Given the description of an element on the screen output the (x, y) to click on. 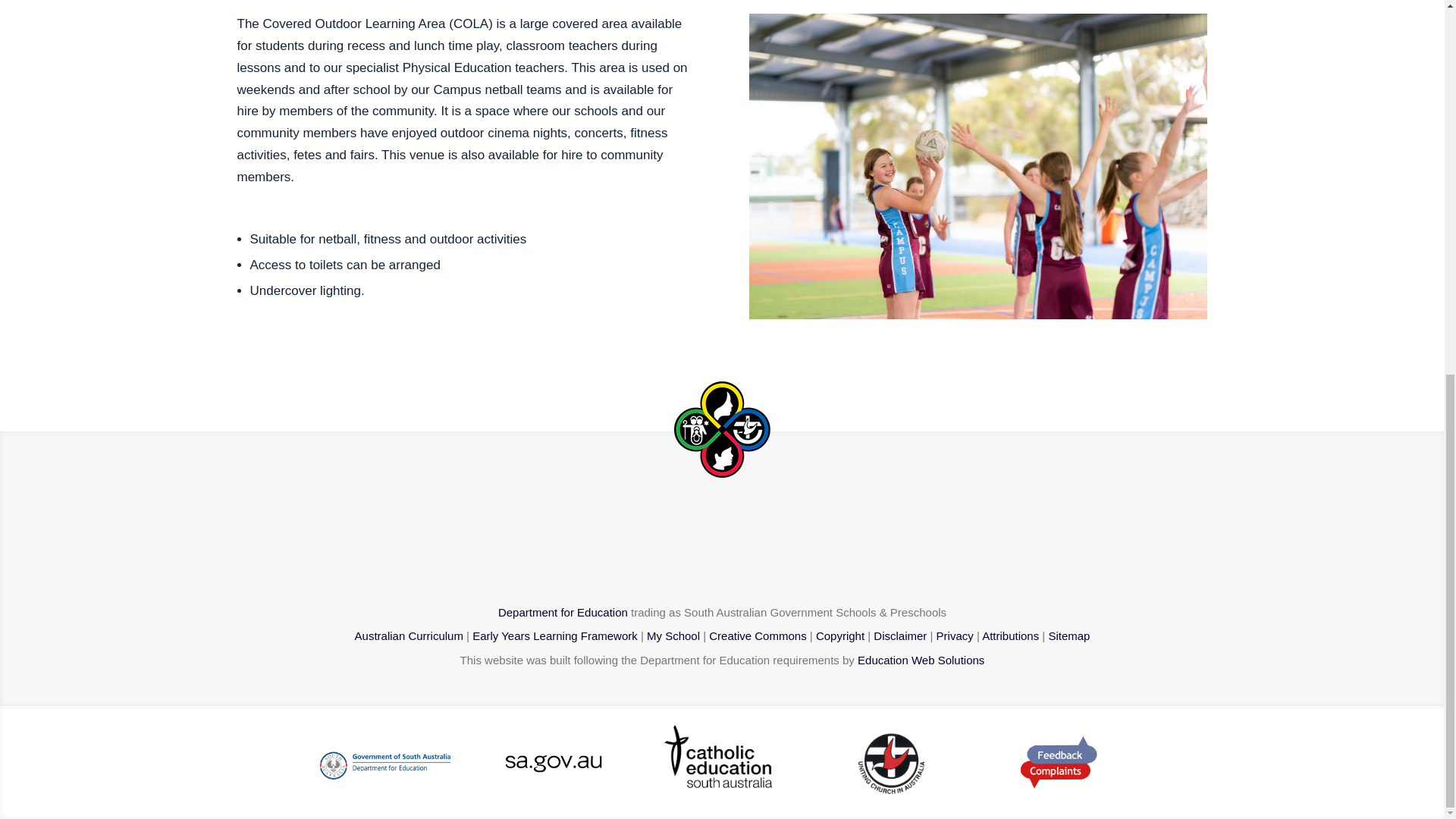
Privacy Information (955, 635)
sagov-black (553, 761)
de-rgb-h (385, 761)
Education Web Solutions (920, 659)
Attributions (1010, 635)
small logo header (721, 429)
Go to the South Australian Curriculum website (409, 635)
Copyright Information (839, 635)
Disclaimer (899, 635)
Sitemap (1068, 635)
Department for Education  (562, 612)
Go to the My School website (673, 635)
